Given the description of an element on the screen output the (x, y) to click on. 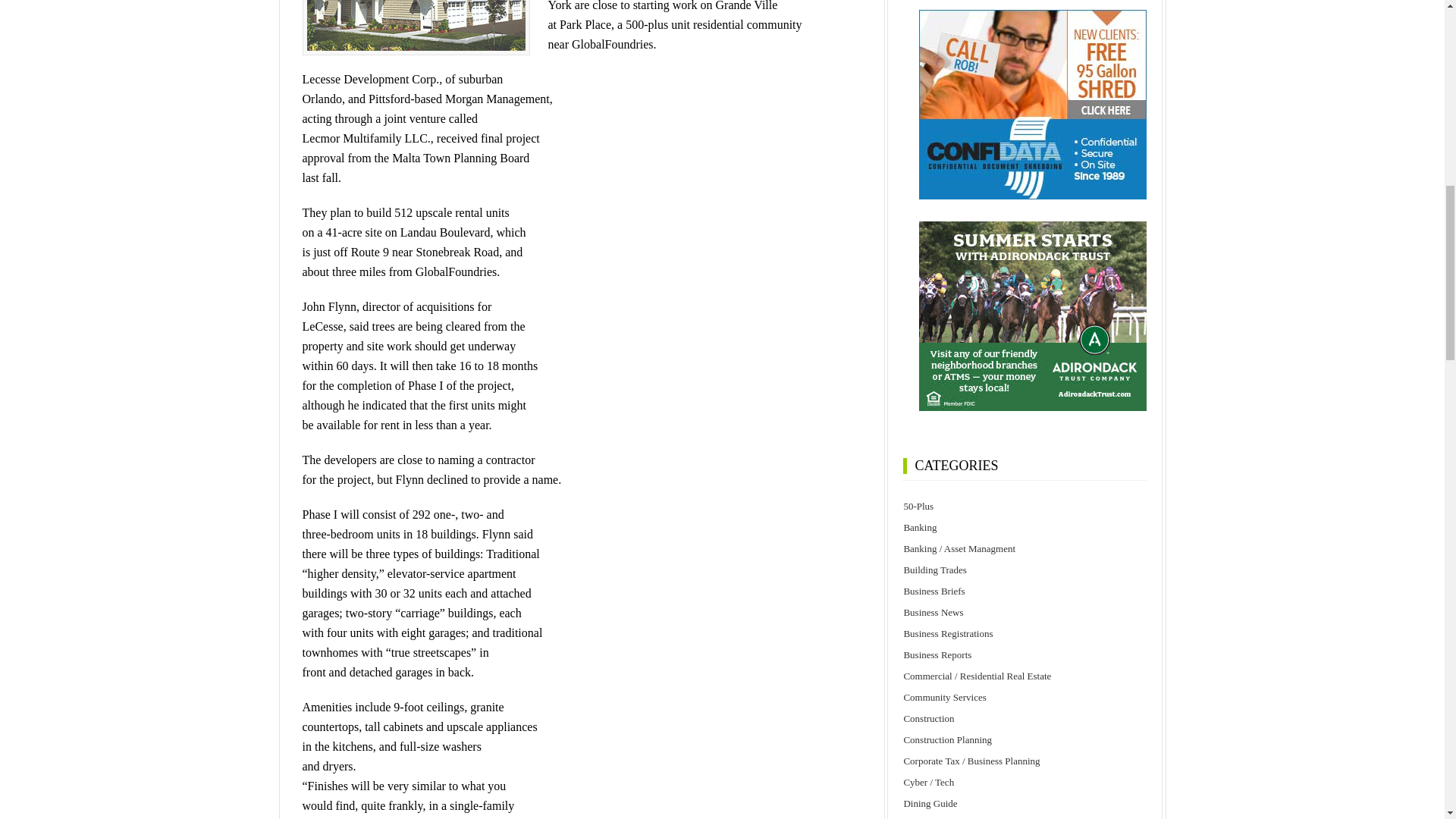
CONFIDATA (1032, 104)
50-Plus (1024, 506)
Banking (1024, 527)
Display Ad for Adirondack Trust (1032, 316)
